Given the description of an element on the screen output the (x, y) to click on. 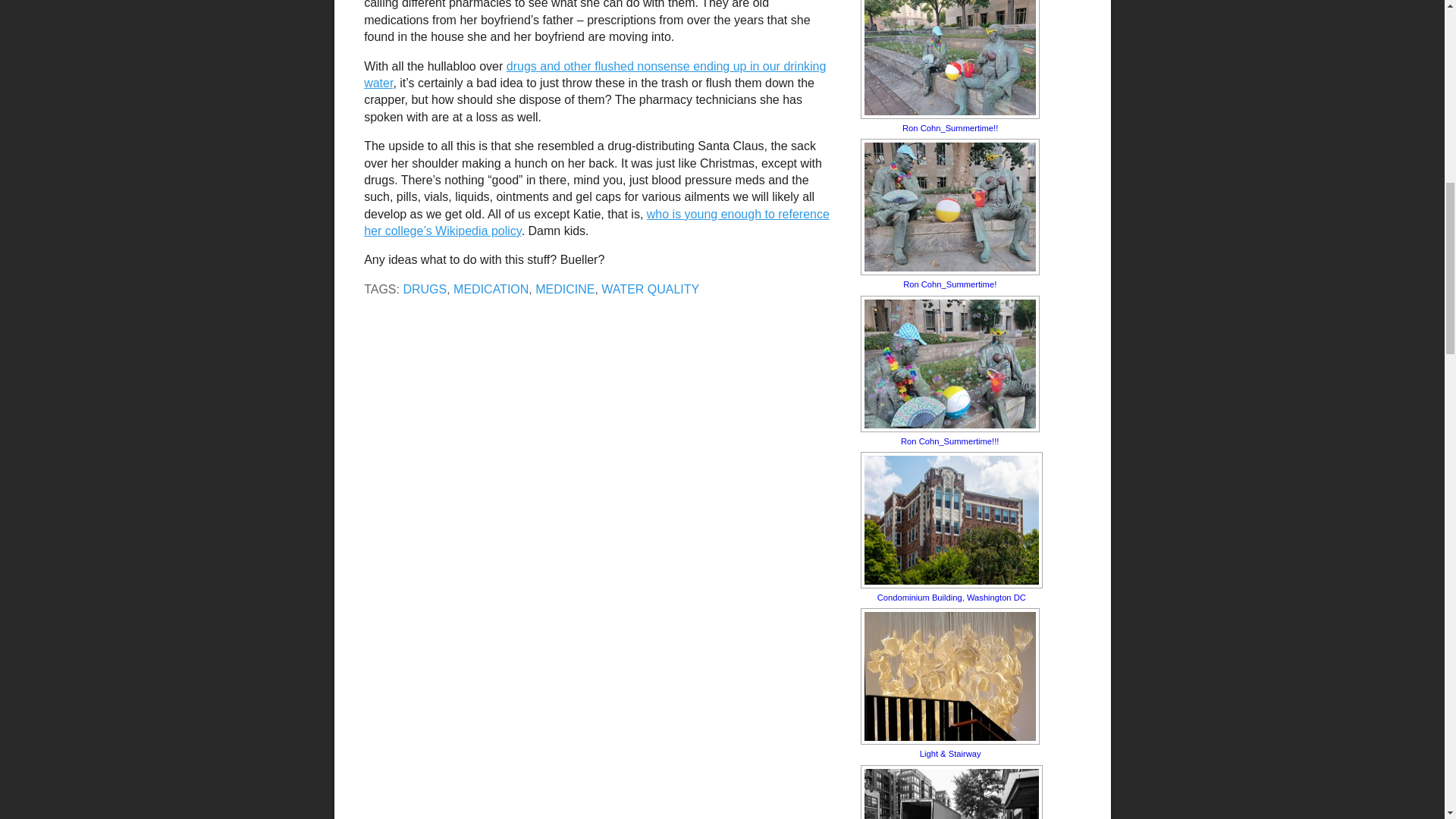
WATER QUALITY (649, 288)
DRUGS (424, 288)
MEDICINE (564, 288)
MEDICATION (490, 288)
